Given the description of an element on the screen output the (x, y) to click on. 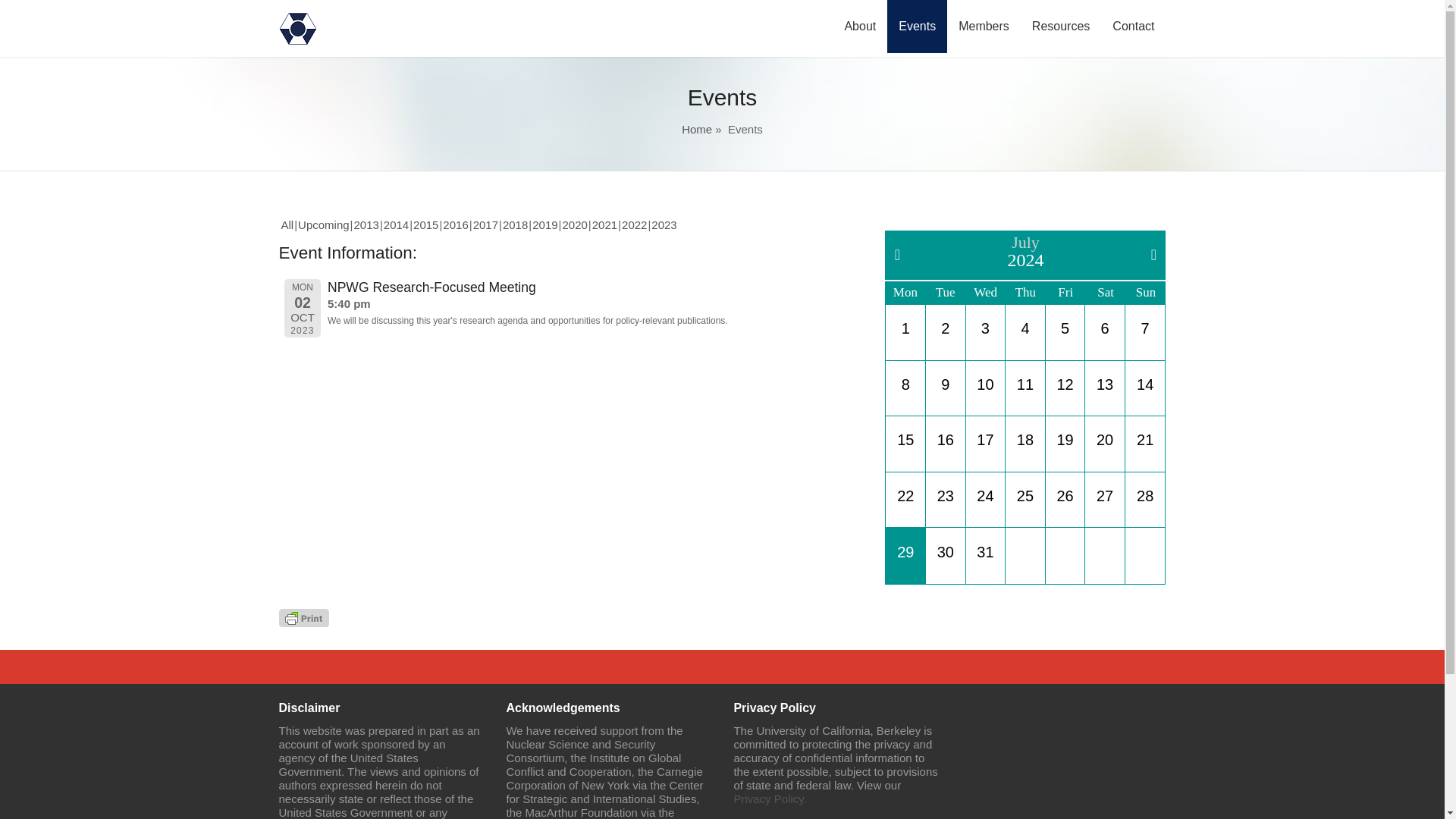
2021 (604, 224)
2016 (454, 224)
Privacy Policy. (769, 798)
2022 (633, 224)
Members (983, 26)
2018 (514, 224)
Nuclear Policy Working Group (298, 42)
About (859, 26)
2019 (544, 224)
Home (696, 128)
2015 (425, 224)
2017 (485, 224)
2014 (396, 224)
Resources (1060, 26)
2020 (574, 224)
